Given the description of an element on the screen output the (x, y) to click on. 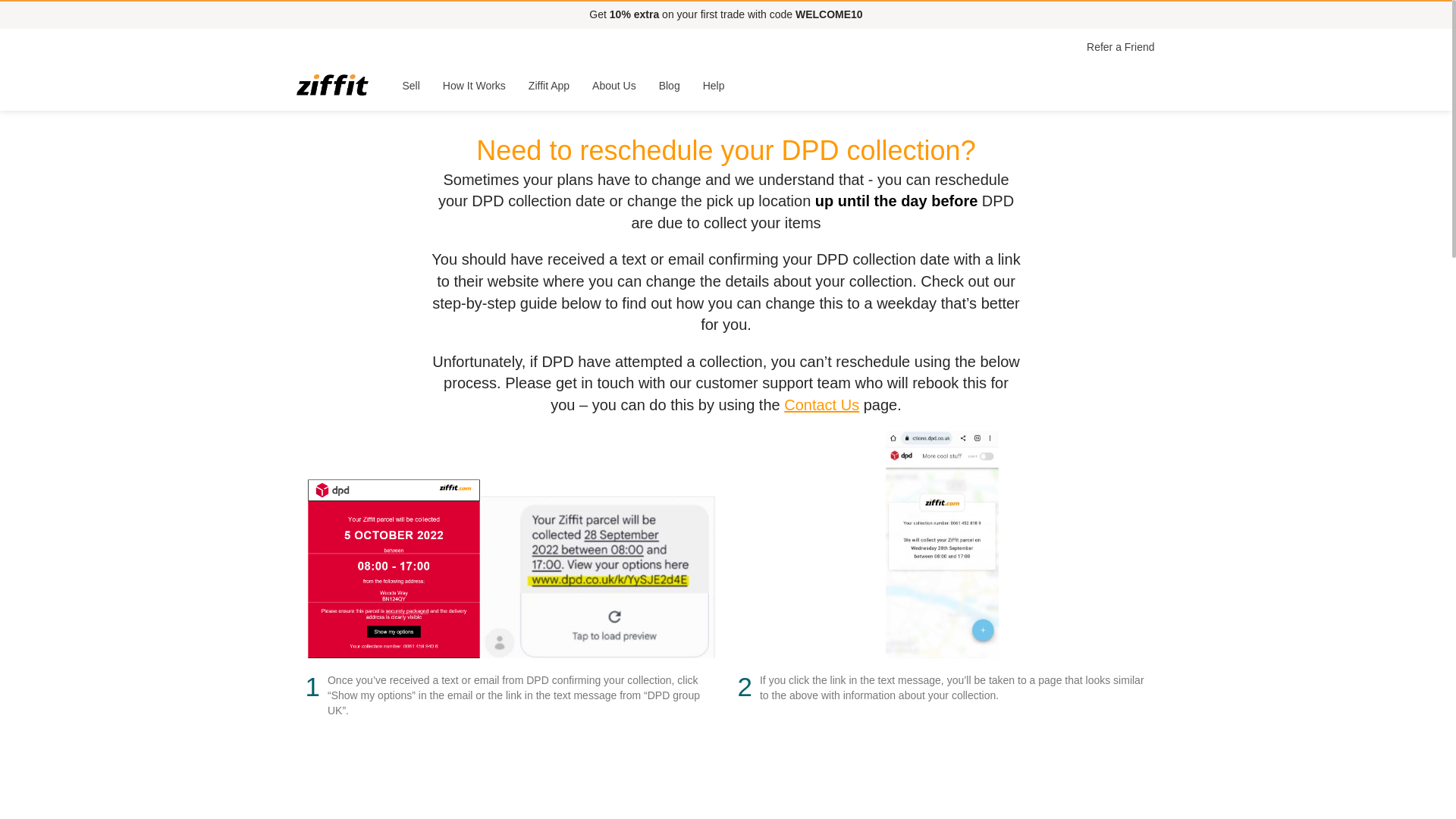
How It Works (473, 85)
Help (713, 85)
Contact Us (821, 404)
Refer a Friend (1120, 46)
Blog (669, 85)
About Us (613, 85)
Ziffit App (548, 85)
